Given the description of an element on the screen output the (x, y) to click on. 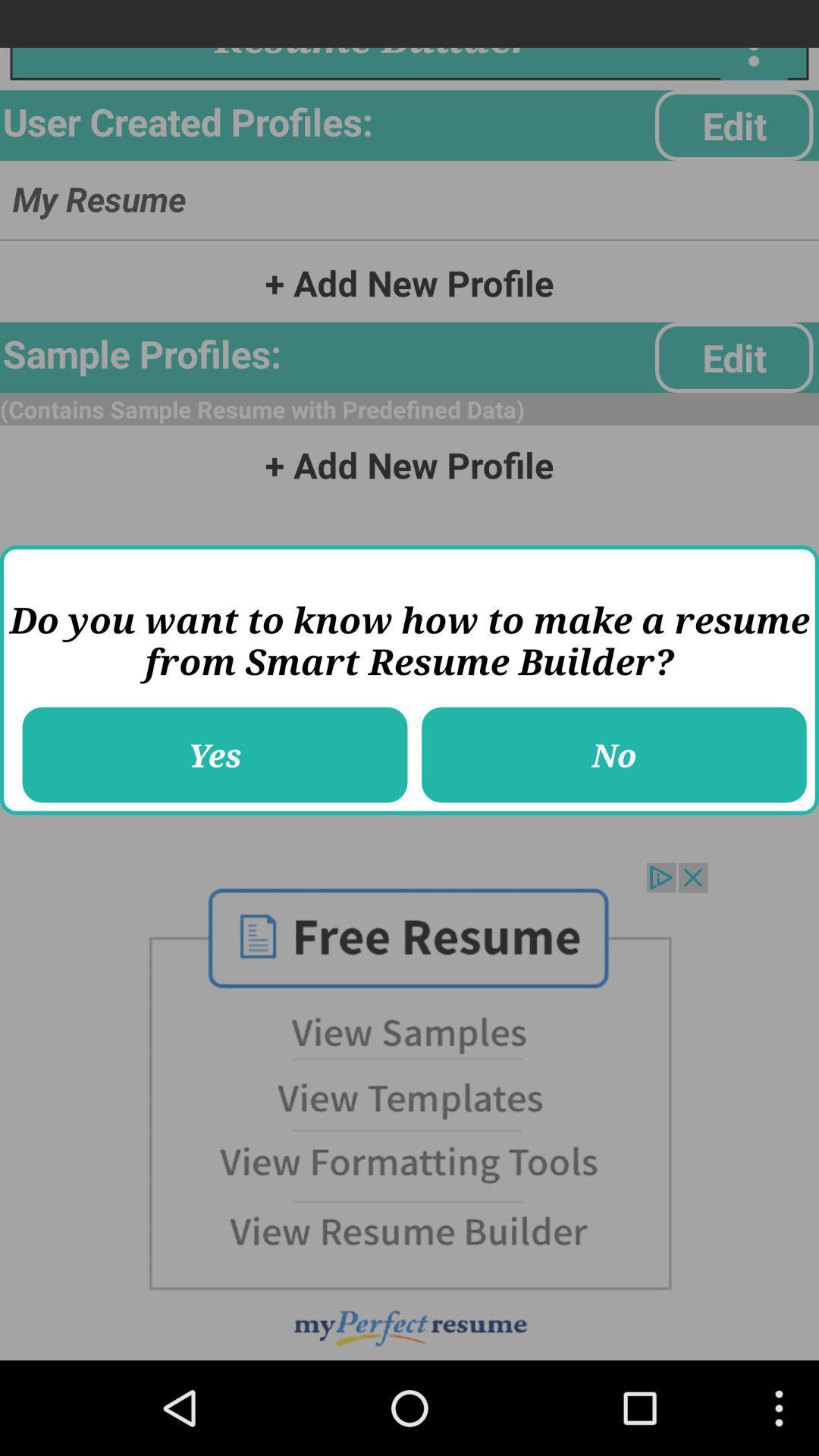
open the no (613, 754)
